Given the description of an element on the screen output the (x, y) to click on. 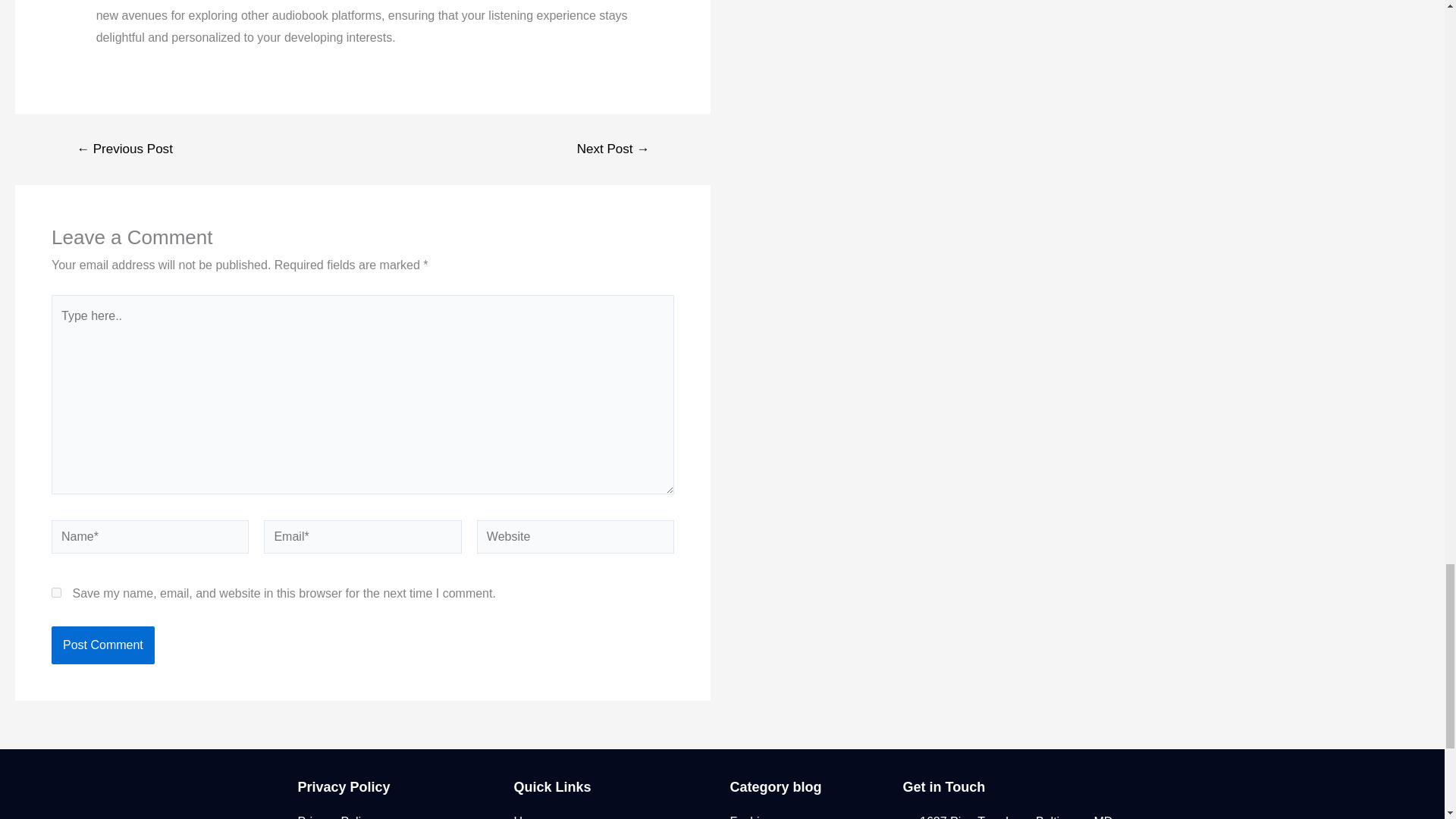
yes (55, 592)
Post Comment (102, 645)
Post Comment (102, 645)
